Given the description of an element on the screen output the (x, y) to click on. 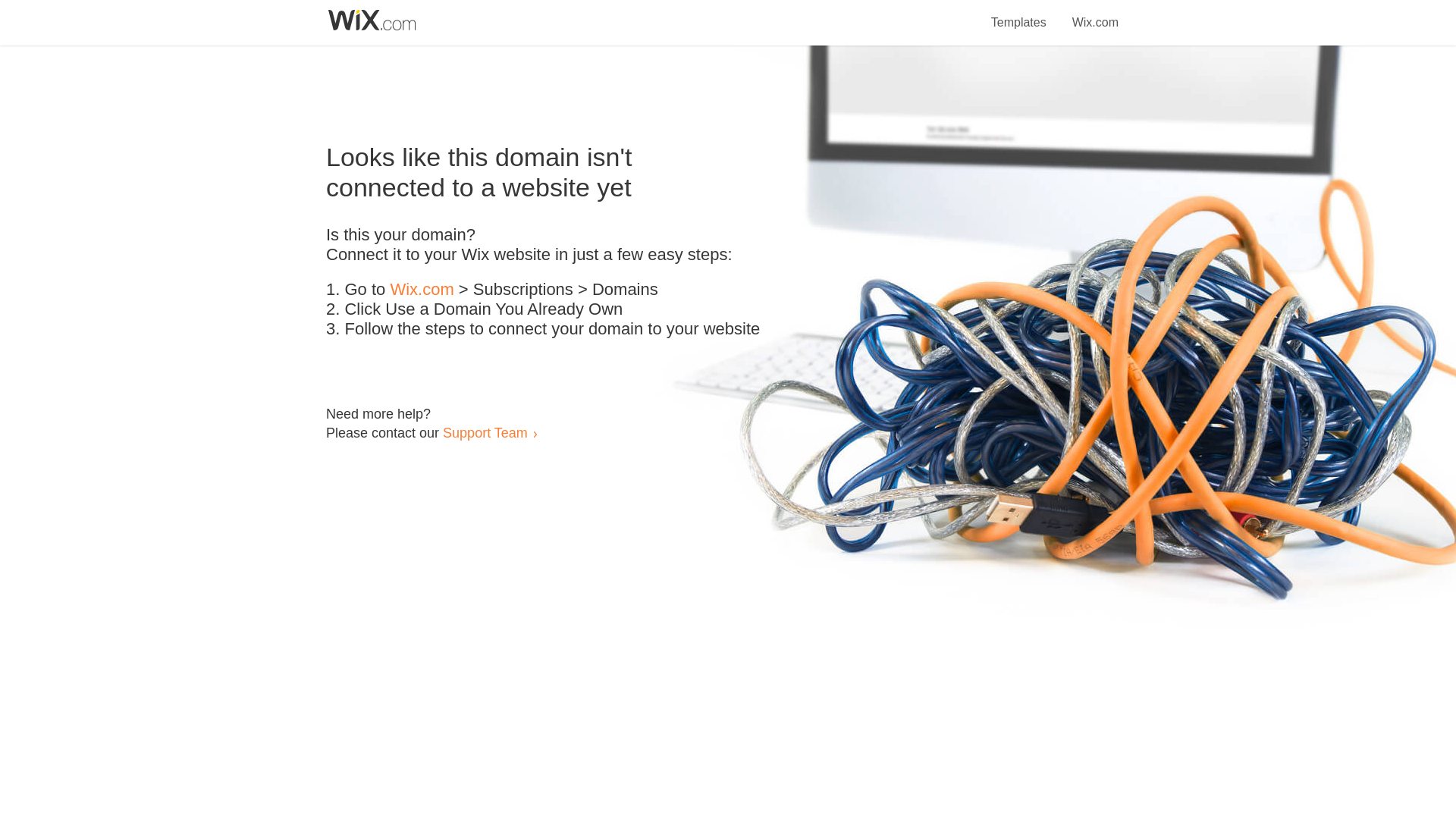
Support Team (484, 432)
Wix.com (421, 289)
Wix.com (1095, 14)
Templates (1018, 14)
